Given the description of an element on the screen output the (x, y) to click on. 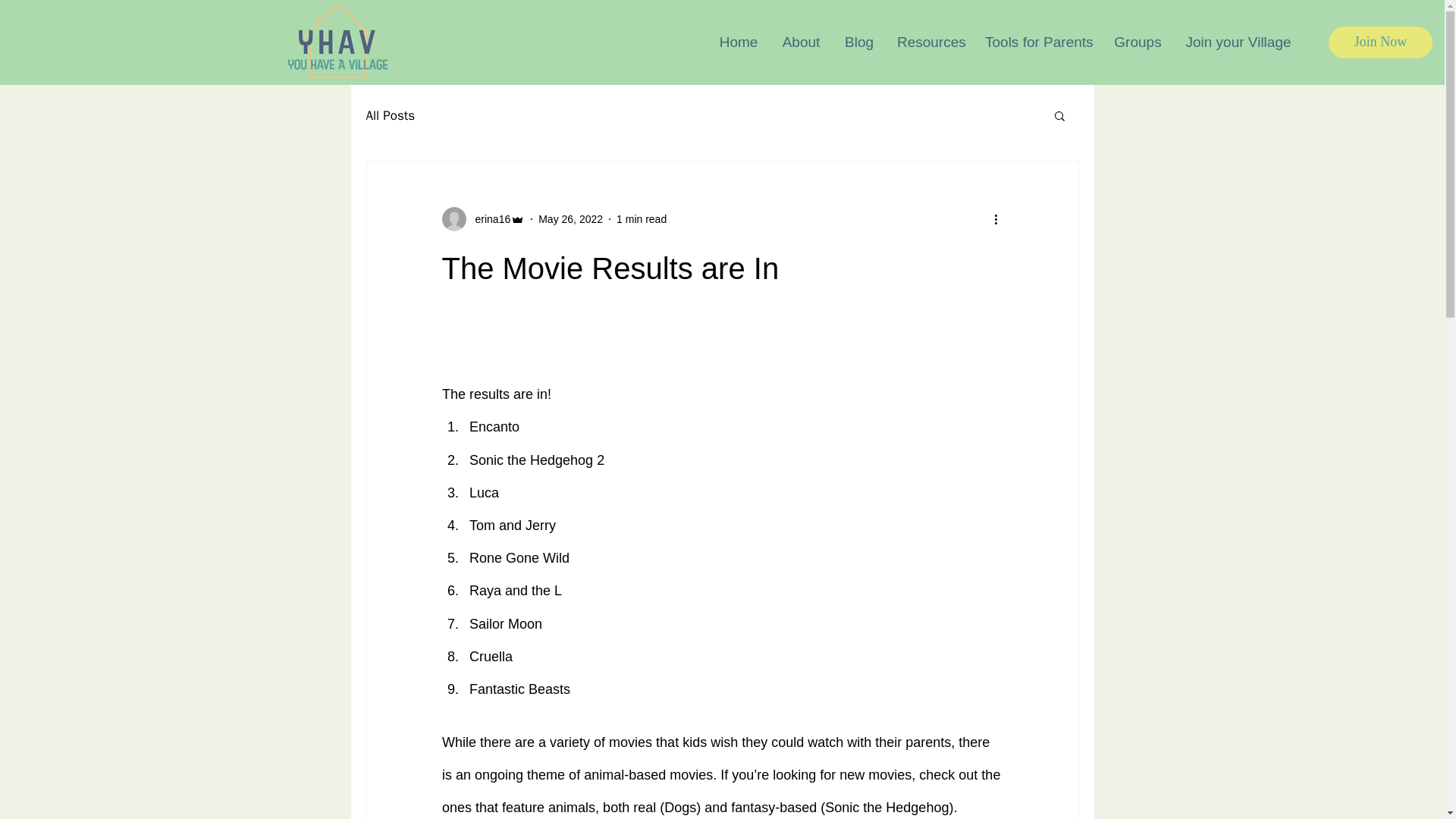
Tools for Parents (1038, 42)
Blog (858, 42)
About (801, 42)
Join your Village (1238, 42)
Home (738, 42)
erina16 (488, 218)
Join Now (1379, 42)
May 26, 2022 (570, 218)
All Posts (389, 114)
Resources (929, 42)
erina16 (482, 218)
Groups (1137, 42)
1 min read (640, 218)
